Given the description of an element on the screen output the (x, y) to click on. 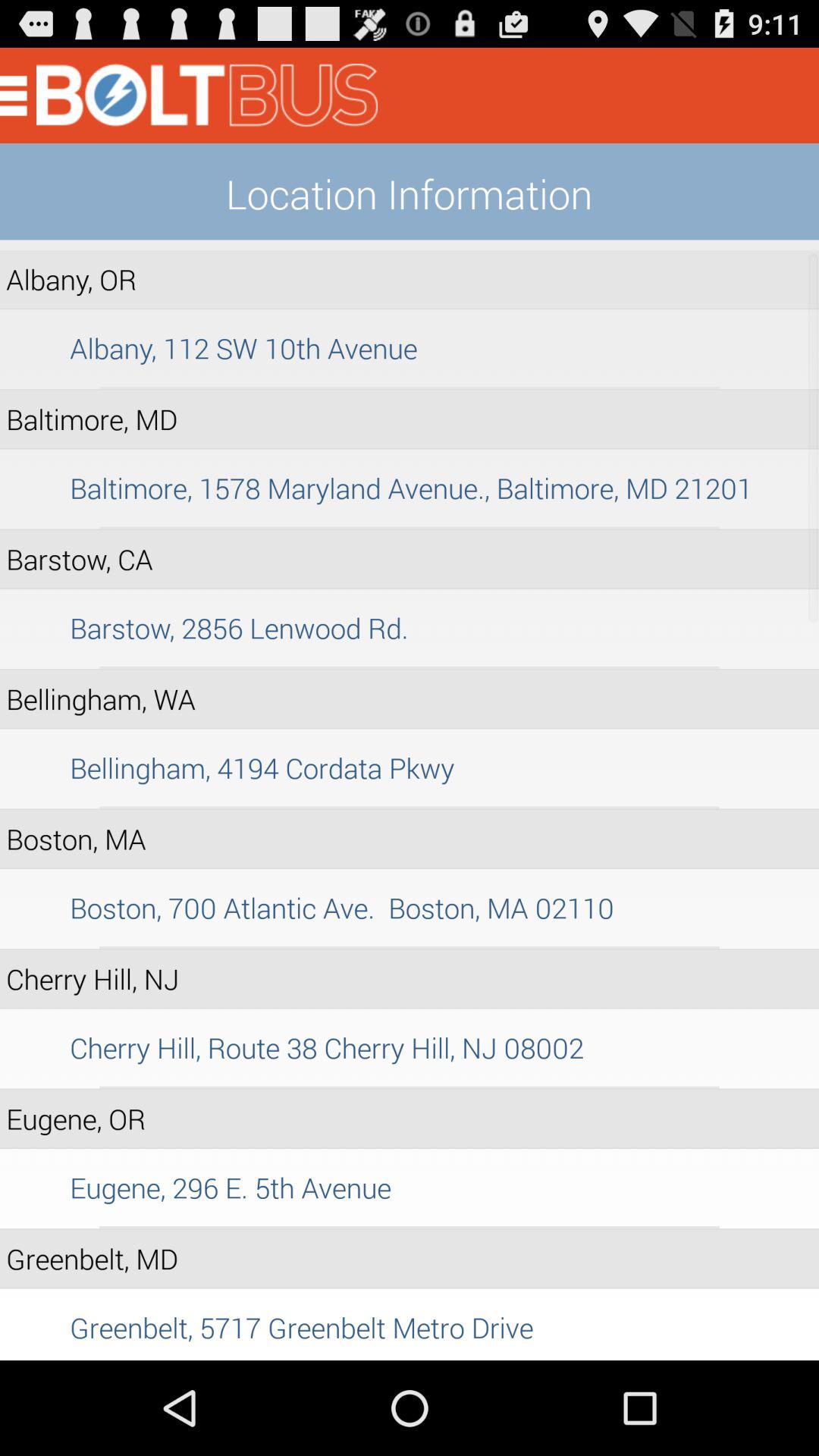
click app below eugene 296 e app (409, 1227)
